Given the description of an element on the screen output the (x, y) to click on. 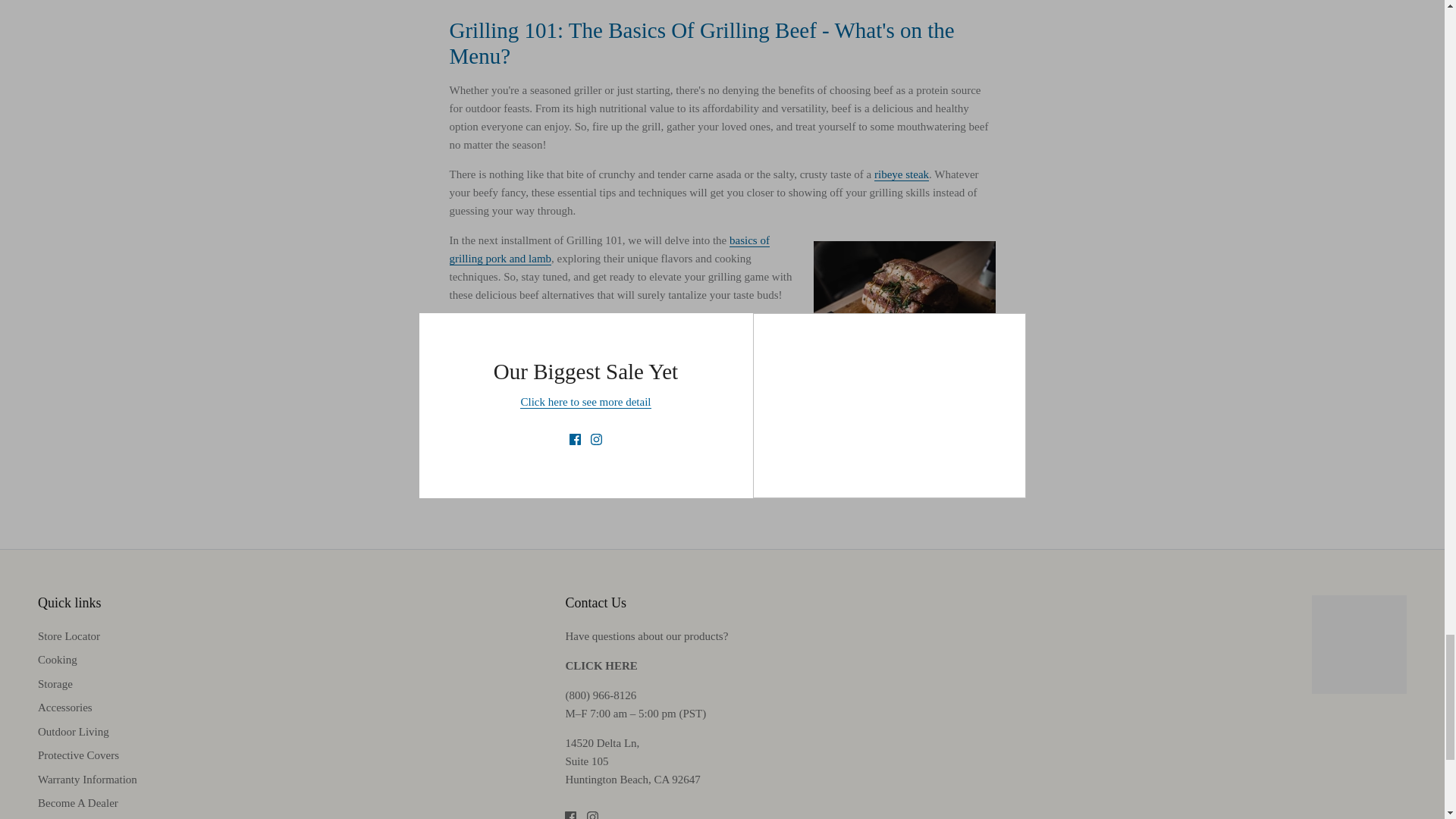
Instagram (592, 815)
The Differences Between Porterhouse and Ribeye (901, 174)
Contact (600, 665)
Facebook (570, 815)
Grilling 101: The Basics Of Grilling Pork and Lamb (608, 249)
